Given the description of an element on the screen output the (x, y) to click on. 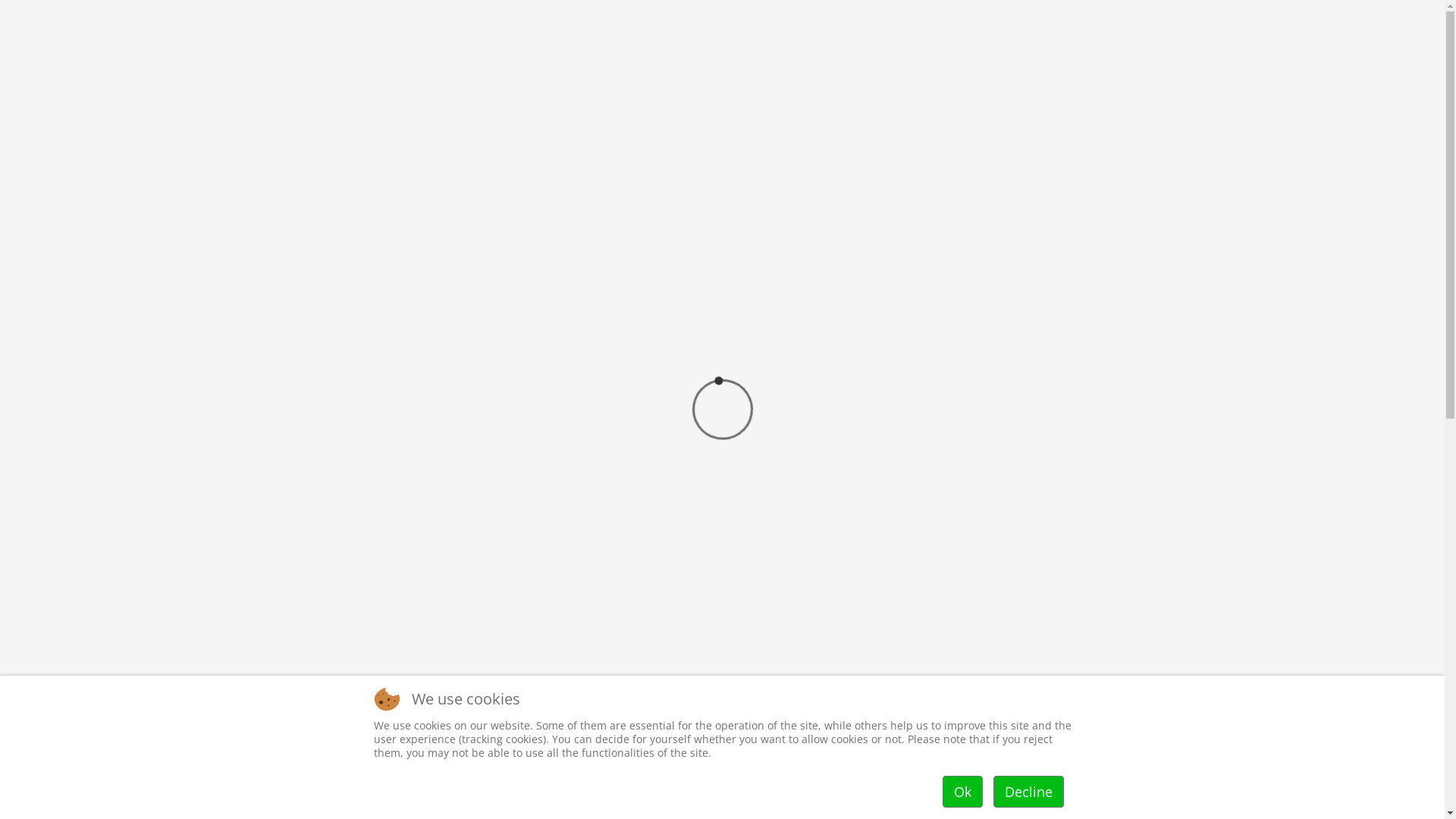
http://joomly.ru/slider Element type: hover (1134, 434)
8(017) 396-36-25 Element type: text (989, 713)
director@college-ripo.by Element type: text (1004, 761)
Decline Element type: text (1028, 791)
director@college-ripo.by Element type: text (1090, 15)
8(017) 396-36-25 Element type: text (967, 15)
Ok Element type: text (961, 791)
